Given the description of an element on the screen output the (x, y) to click on. 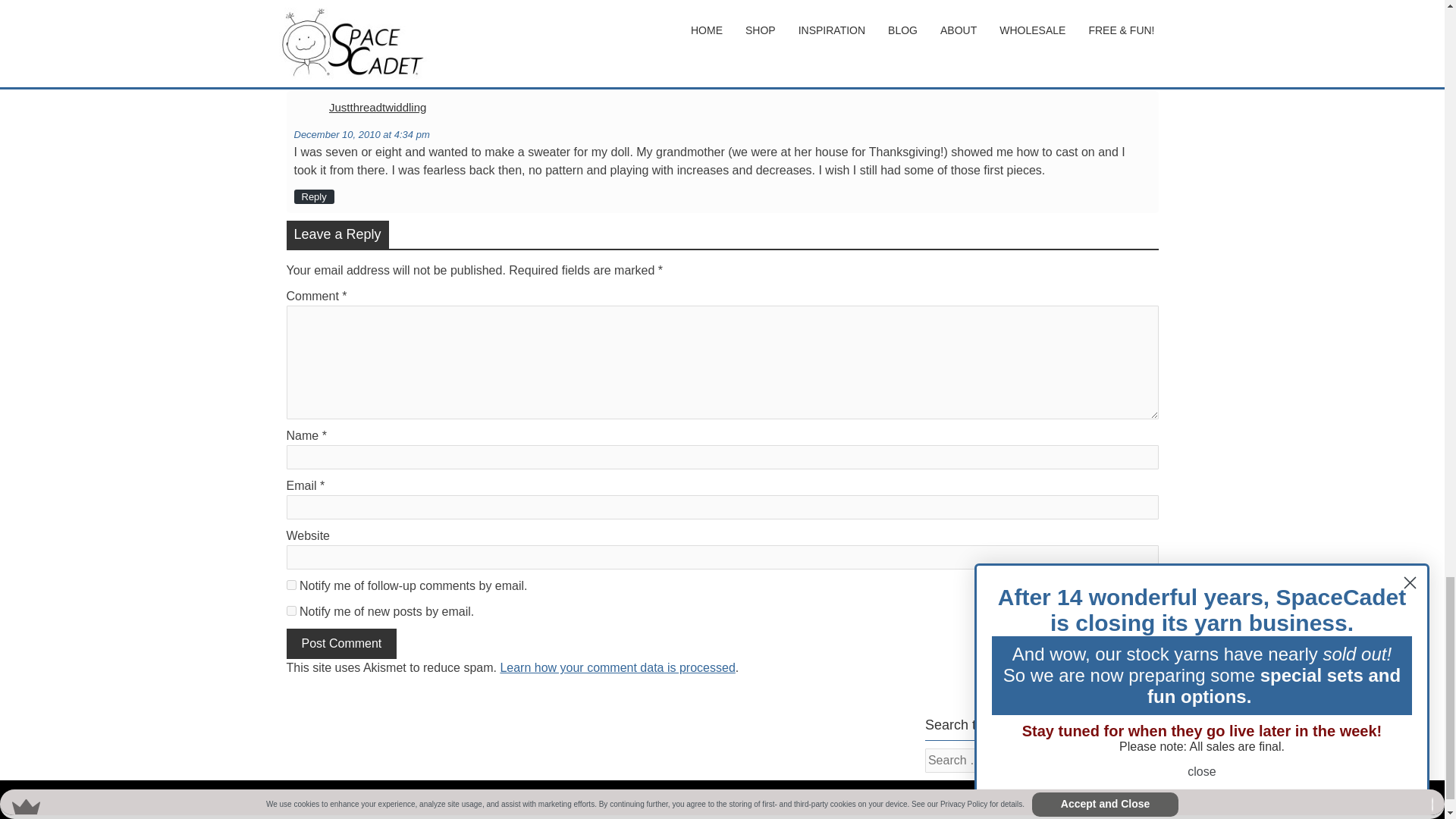
subscribe (291, 584)
AccessPress Themes (1114, 799)
Post Comment (341, 643)
subscribe (291, 610)
